Given the description of an element on the screen output the (x, y) to click on. 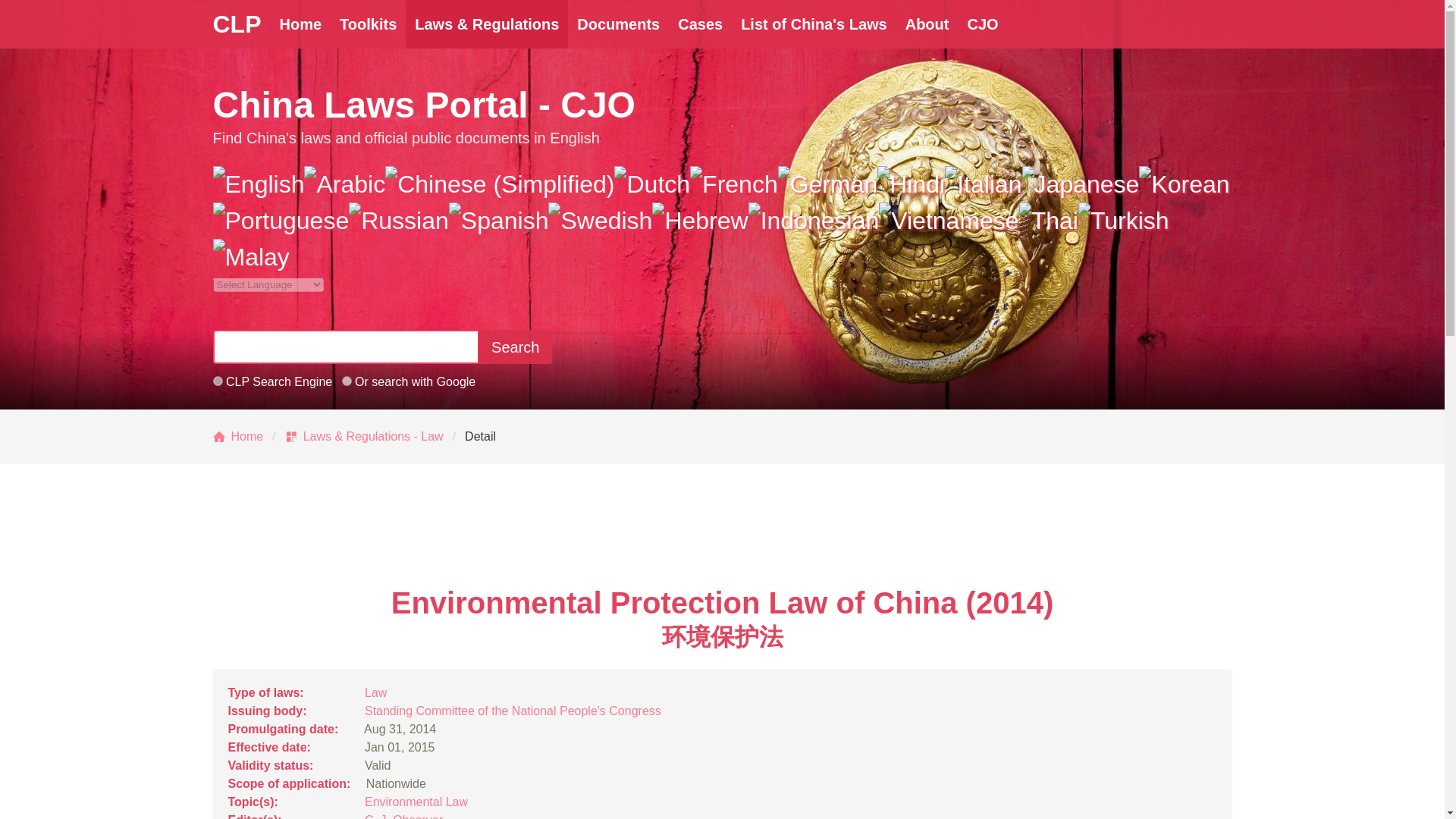
Cases (700, 24)
Documents (617, 24)
Laws (486, 24)
Detail (480, 436)
List of China's Laws (814, 24)
About (927, 24)
List of China's Laws (814, 24)
Japanese (1081, 184)
Toolkits (368, 24)
About (927, 24)
on (347, 380)
Search (515, 346)
French (733, 184)
English (258, 184)
C. J. Observer (403, 816)
